Given the description of an element on the screen output the (x, y) to click on. 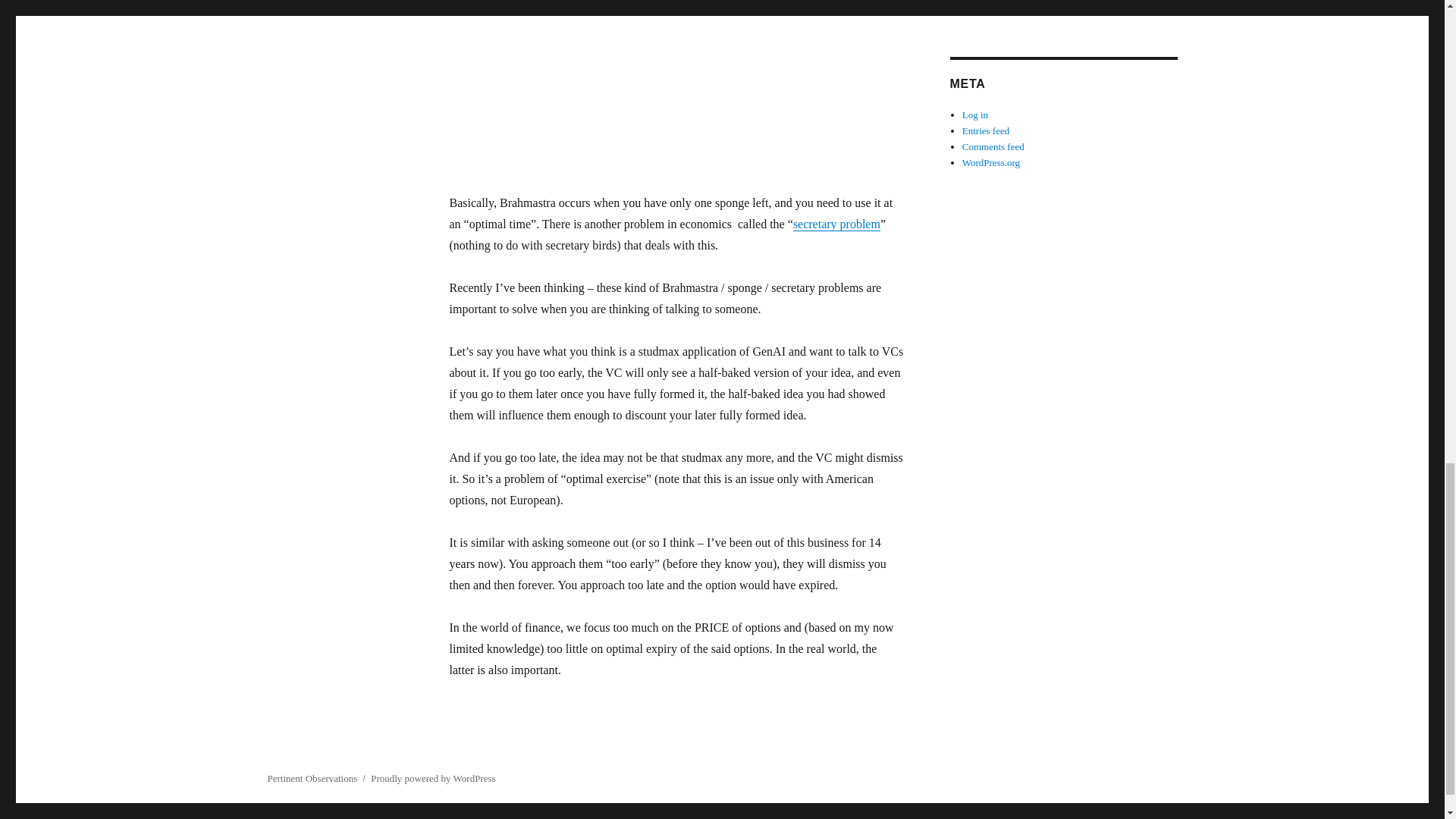
secretary problem (836, 223)
